Given the description of an element on the screen output the (x, y) to click on. 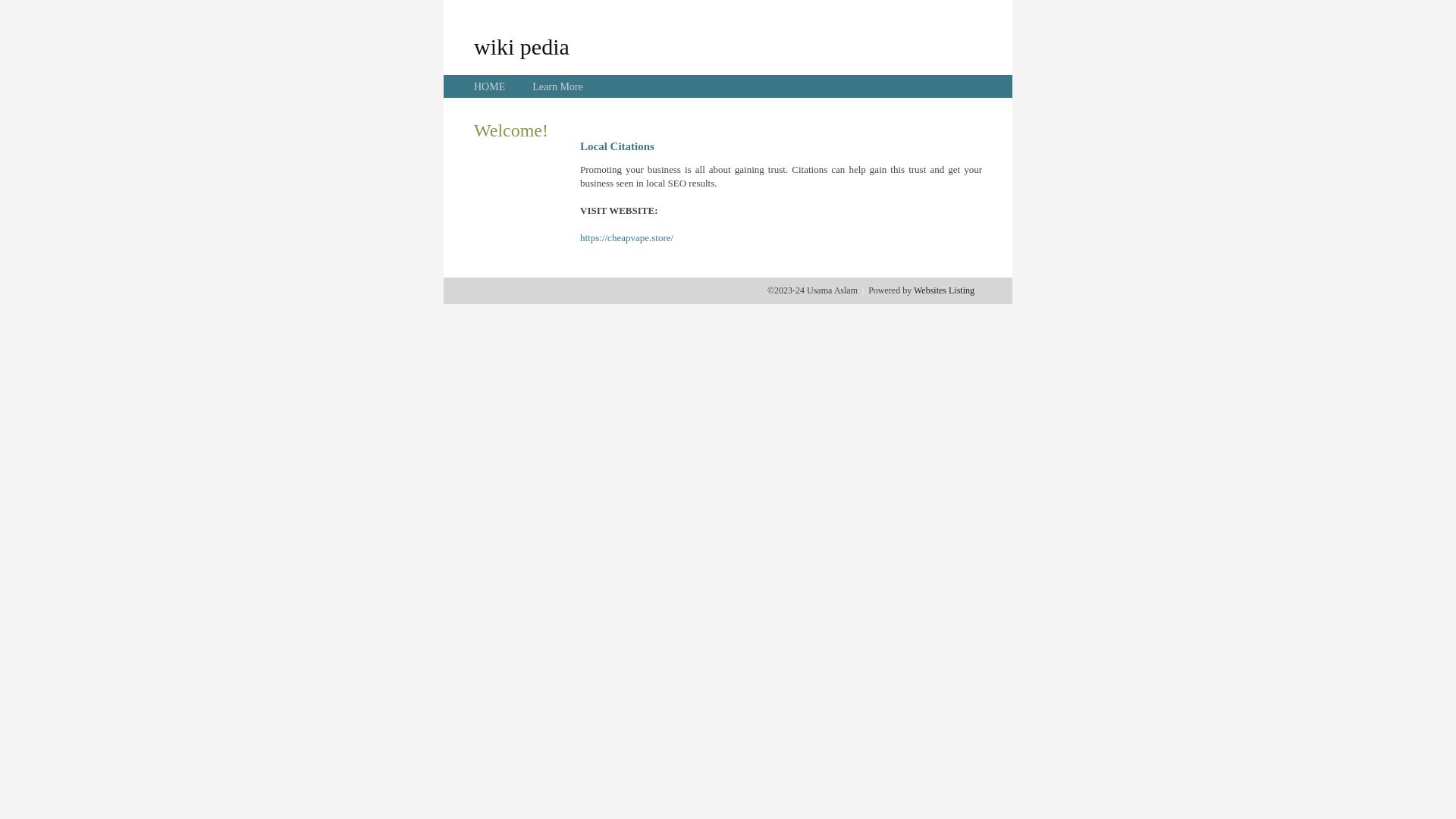
wiki pedia Element type: text (521, 46)
https://cheapvape.store/ Element type: text (626, 237)
Learn More Element type: text (557, 86)
HOME Element type: text (489, 86)
Websites Listing Element type: text (943, 290)
